Given the description of an element on the screen output the (x, y) to click on. 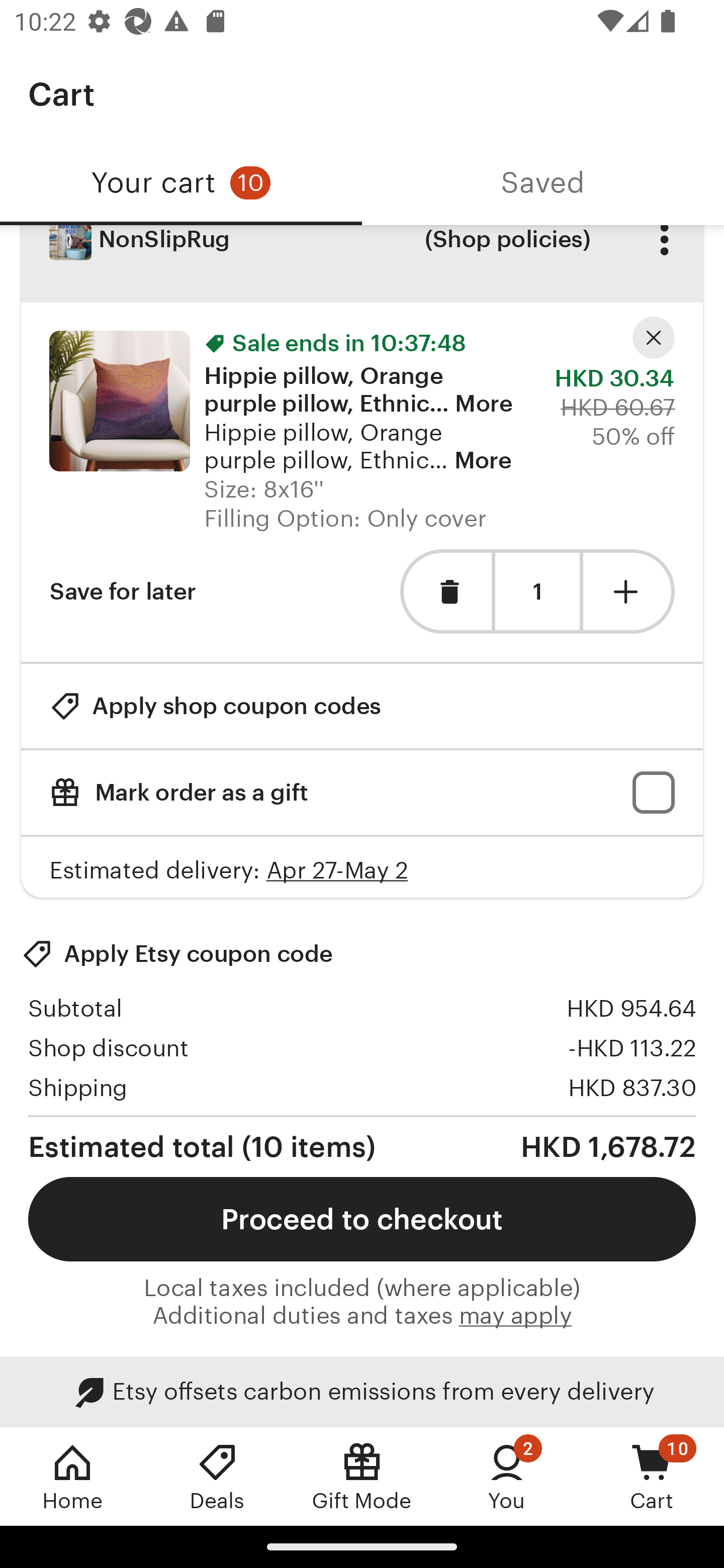
Saved, tab 2 of 2 Saved (543, 183)
NonSlipRug (Shop policies) More options (361, 263)
(Shop policies) (507, 252)
More options (663, 252)
Save for later (122, 590)
Remove item from cart (445, 590)
Add one unit to cart (628, 590)
1 (537, 591)
Apply shop coupon codes (215, 705)
Mark order as a gift (361, 792)
Apply Etsy coupon code (177, 953)
Proceed to checkout (361, 1218)
Home (72, 1475)
Deals (216, 1475)
Gift Mode (361, 1475)
You, 2 new notifications You (506, 1475)
